Given the description of an element on the screen output the (x, y) to click on. 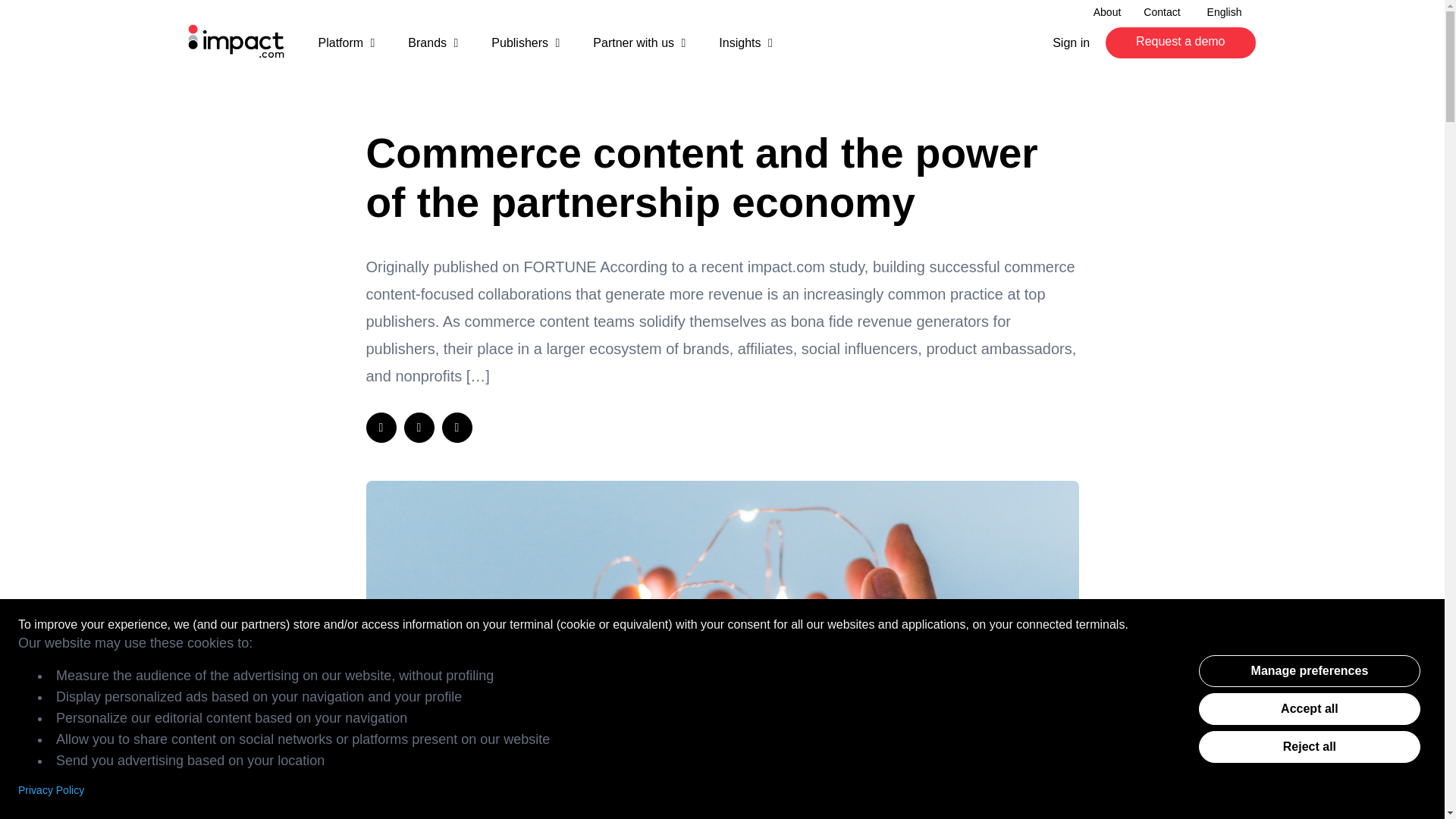
English (1224, 12)
English (1224, 12)
Accept all (1309, 708)
facebook (456, 427)
About (1106, 12)
Reject all (1309, 746)
Contact (1161, 12)
Manage preferences (1309, 671)
Platform (346, 48)
linkedin (380, 427)
Privacy Policy (50, 789)
twitter (418, 427)
Brands (432, 48)
